Given the description of an element on the screen output the (x, y) to click on. 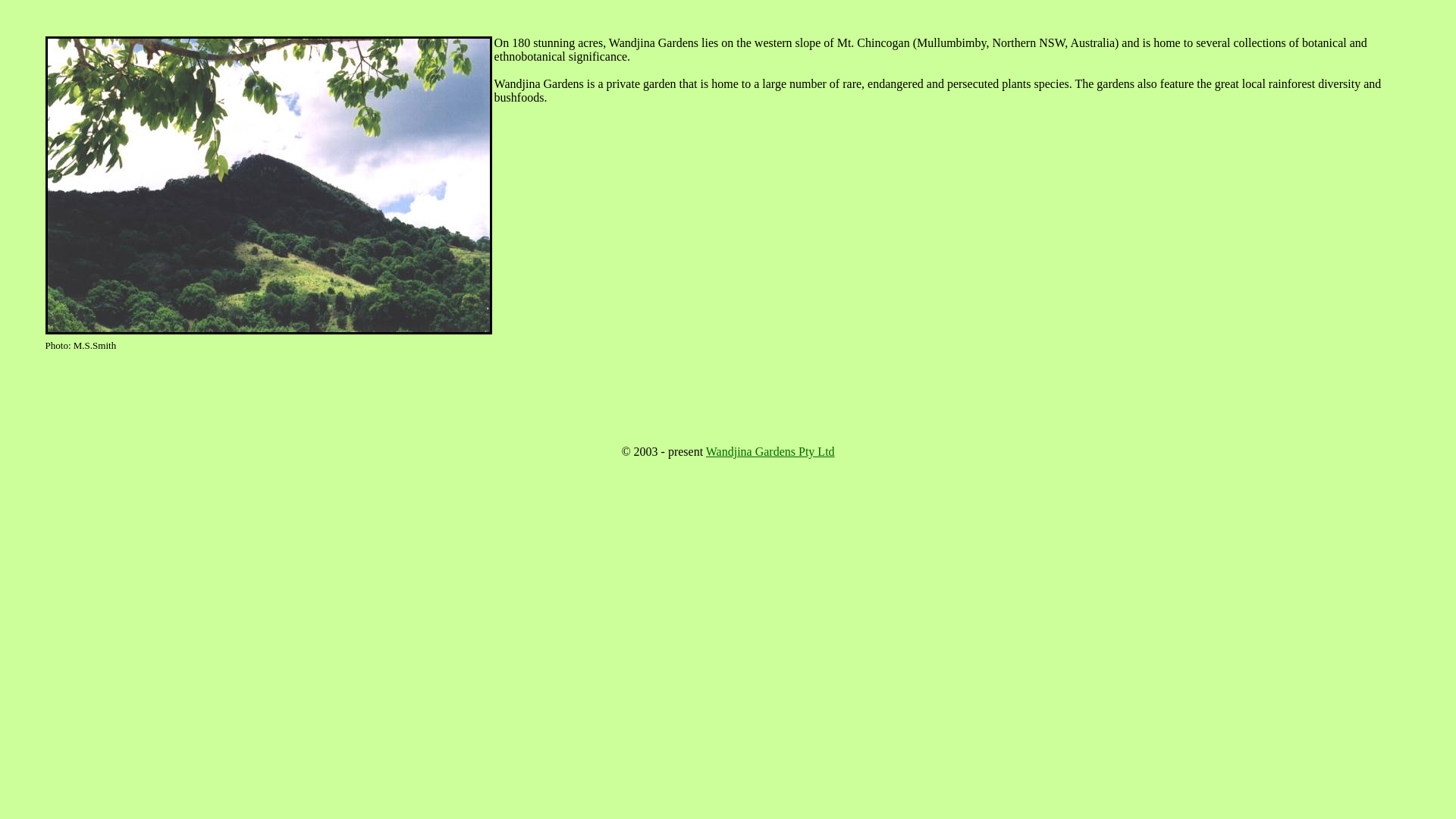
Wandjina Gardens Pty Ltd Element type: text (770, 451)
